Given the description of an element on the screen output the (x, y) to click on. 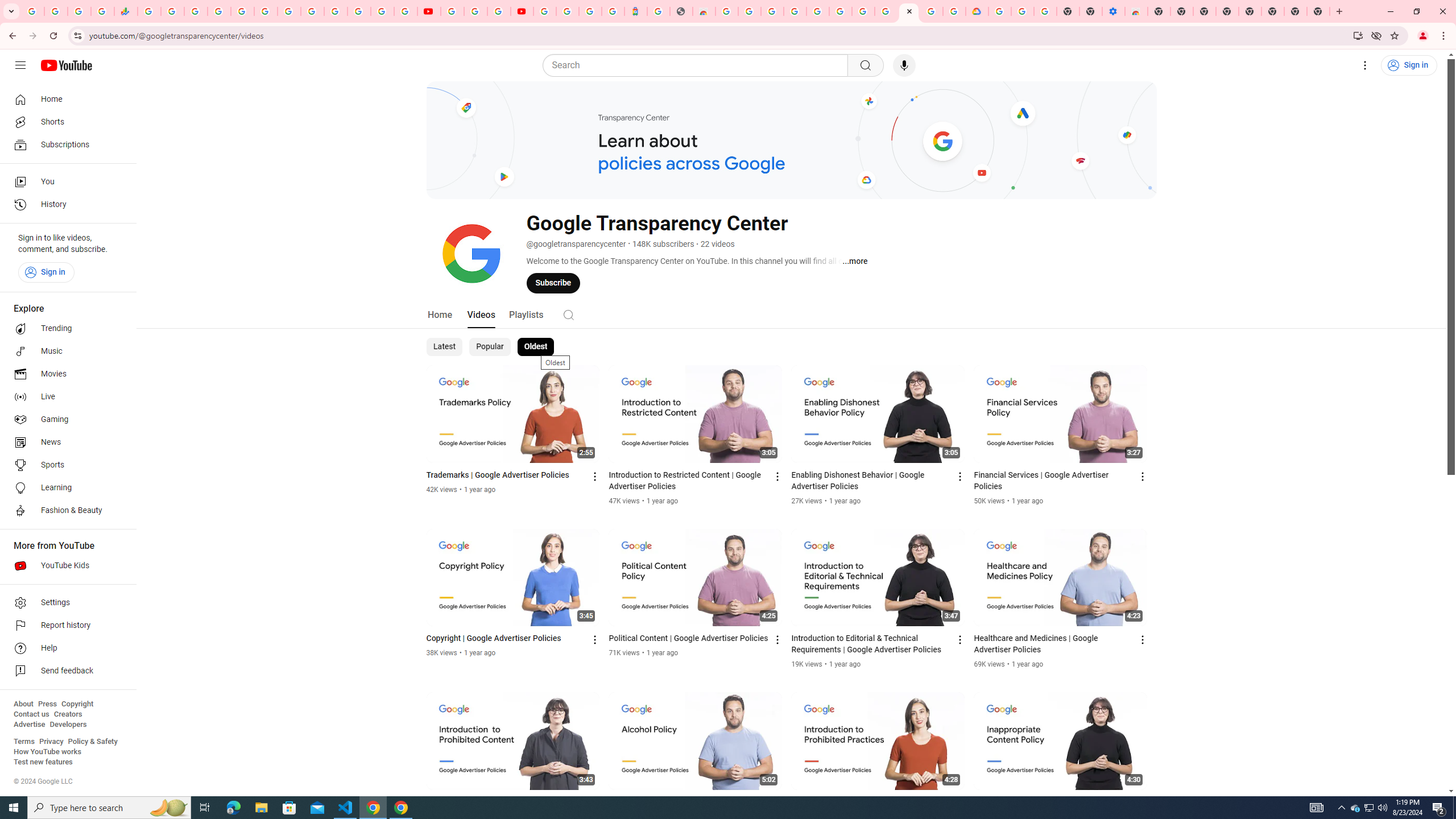
Subscriptions (64, 144)
Google Account Help (1022, 11)
Settings (64, 602)
Chrome Web Store - Household (703, 11)
YouTube (428, 11)
Google Transparency Center - YouTube (909, 11)
Latest (444, 346)
Home (64, 99)
